Given the description of an element on the screen output the (x, y) to click on. 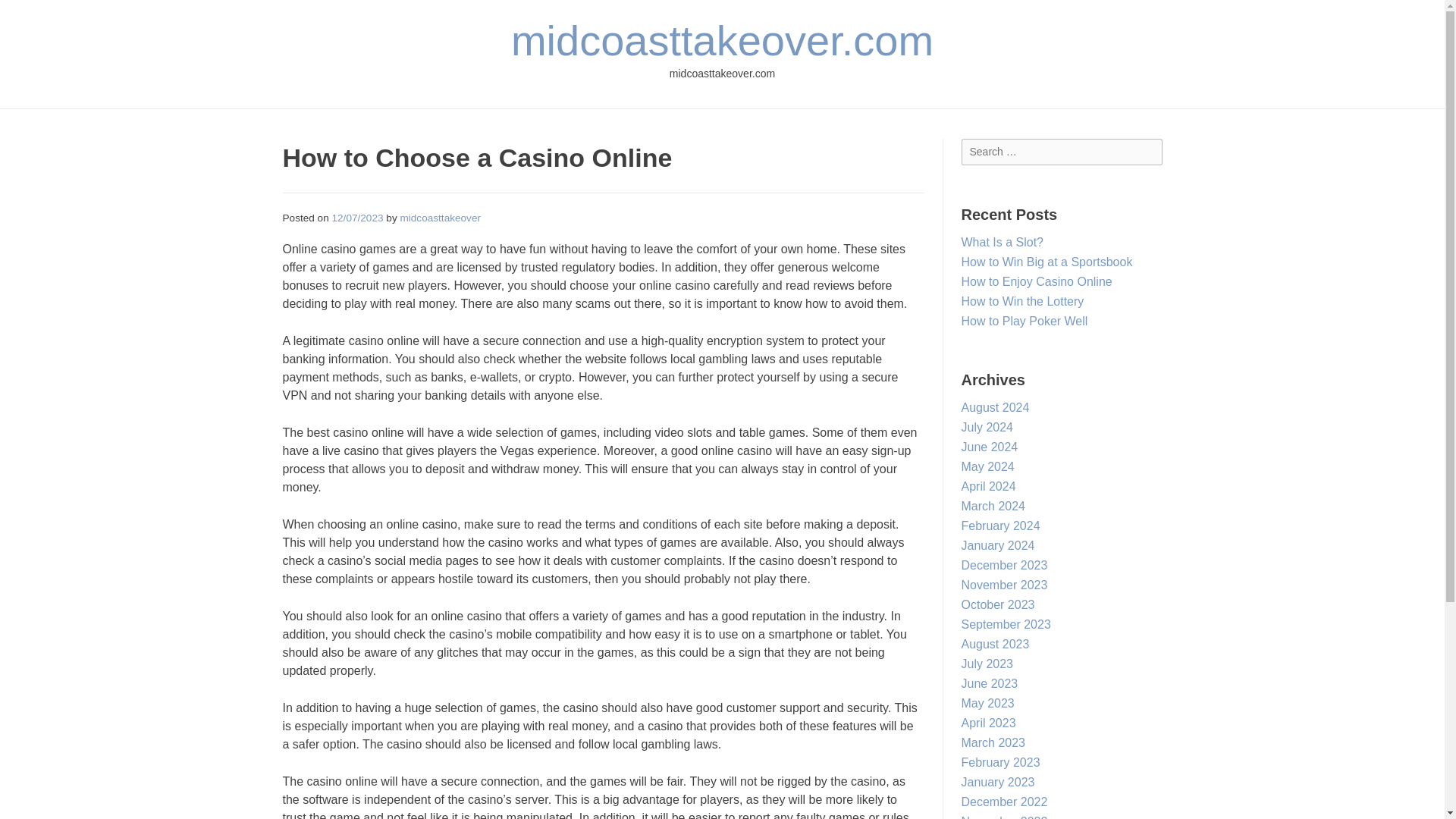
Search (27, 13)
August 2023 (994, 644)
May 2024 (987, 466)
How to Win the Lottery (1022, 300)
March 2024 (993, 505)
How to Enjoy Casino Online (1036, 281)
November 2023 (1004, 584)
June 2024 (988, 446)
July 2024 (986, 427)
April 2023 (988, 722)
December 2022 (1004, 801)
September 2023 (1005, 624)
October 2023 (997, 604)
midcoasttakeover (439, 217)
December 2023 (1004, 564)
